Given the description of an element on the screen output the (x, y) to click on. 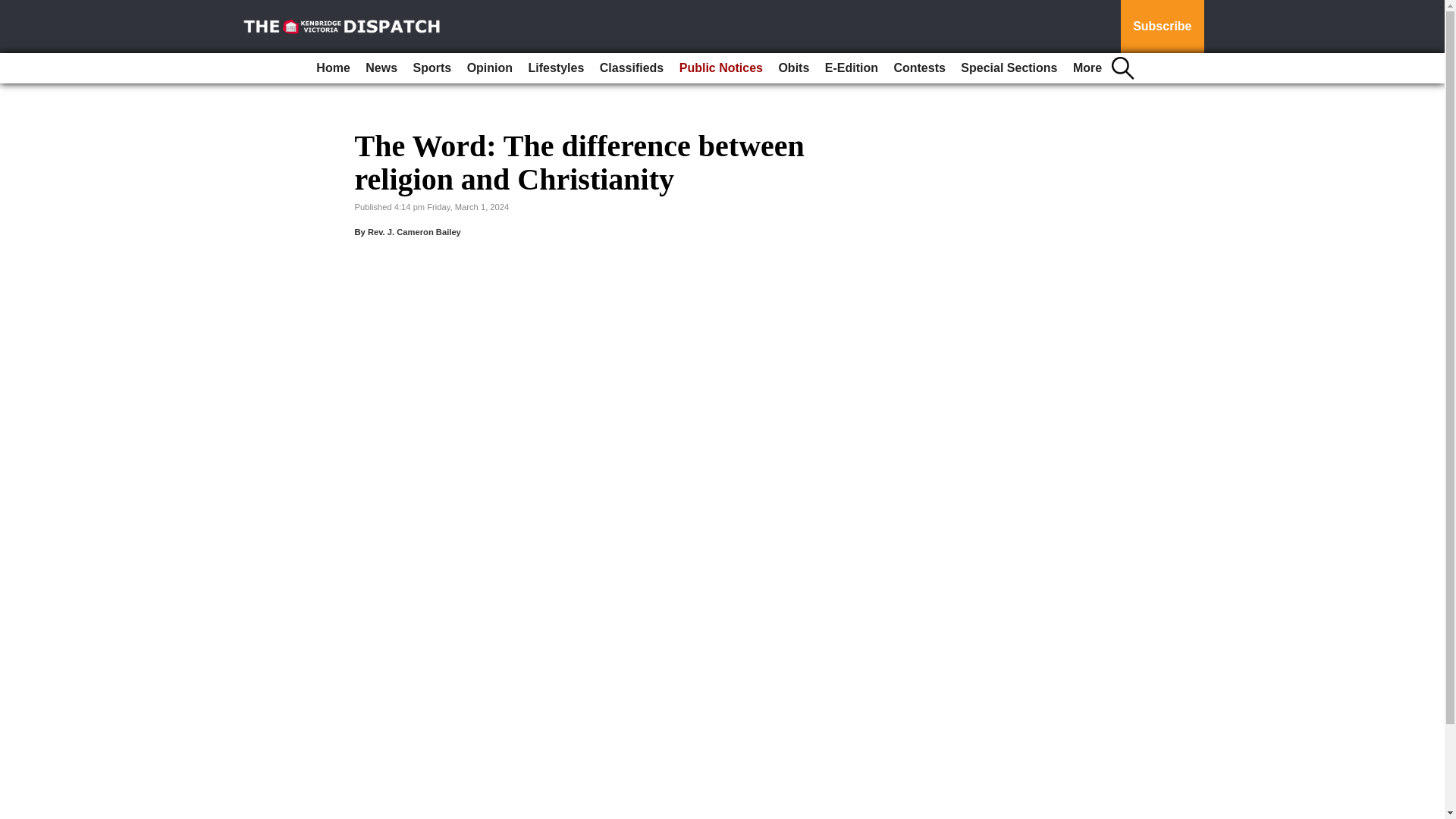
More (1087, 68)
News (381, 68)
Subscribe (1162, 26)
Classifieds (631, 68)
Go (13, 9)
Special Sections (1008, 68)
Obits (793, 68)
E-Edition (850, 68)
Sports (431, 68)
Lifestyles (556, 68)
Contests (918, 68)
Public Notices (720, 68)
Rev. J. Cameron Bailey (414, 231)
Opinion (489, 68)
Home (332, 68)
